Given the description of an element on the screen output the (x, y) to click on. 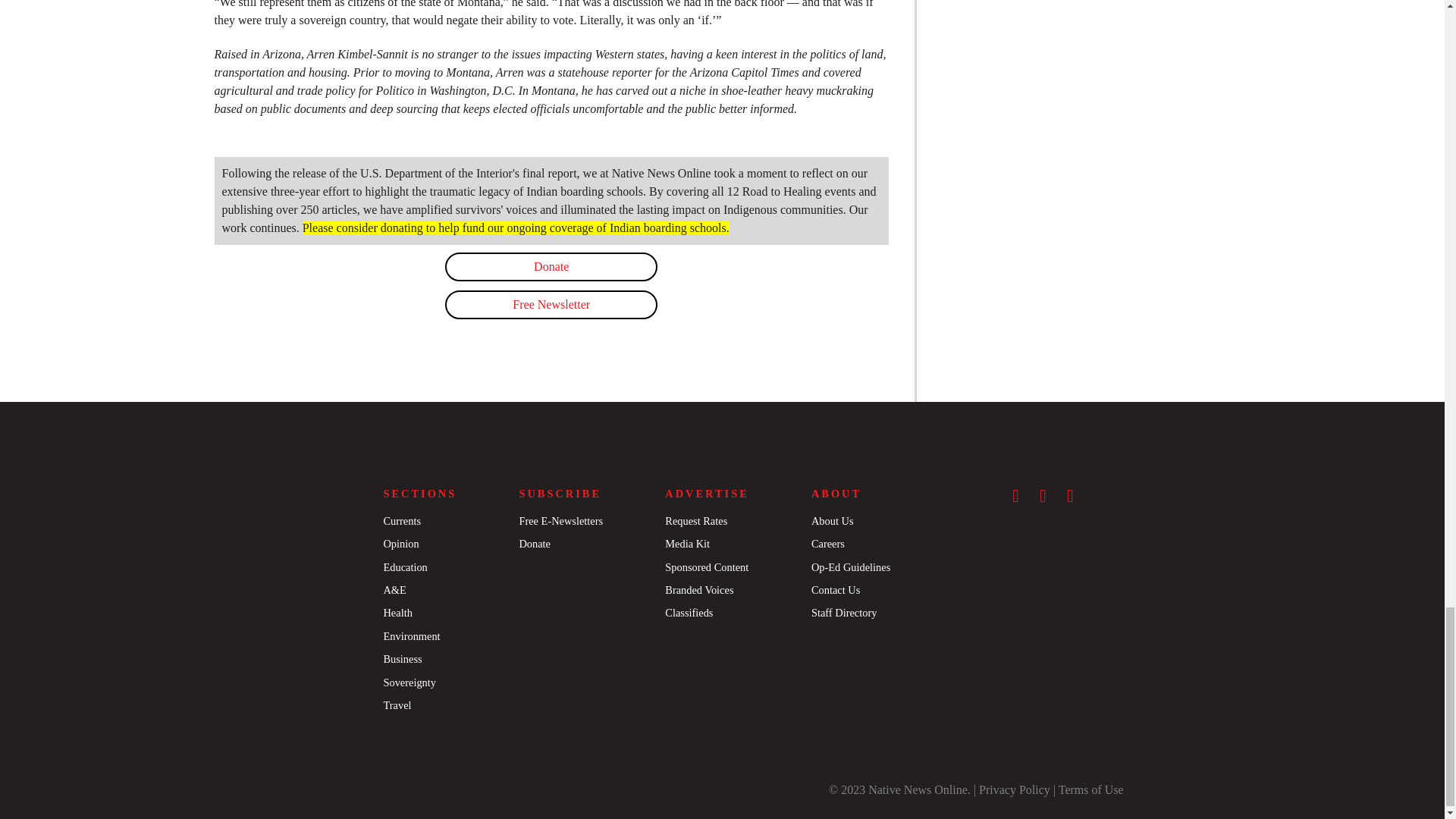
Health (397, 612)
Travel (396, 705)
Media Kit (687, 543)
Request Rates (695, 521)
Donate (534, 543)
Education (404, 567)
Currents (401, 521)
Environment (410, 635)
Free Newsletter (551, 304)
Free E-Newsletters (560, 521)
